Given the description of an element on the screen output the (x, y) to click on. 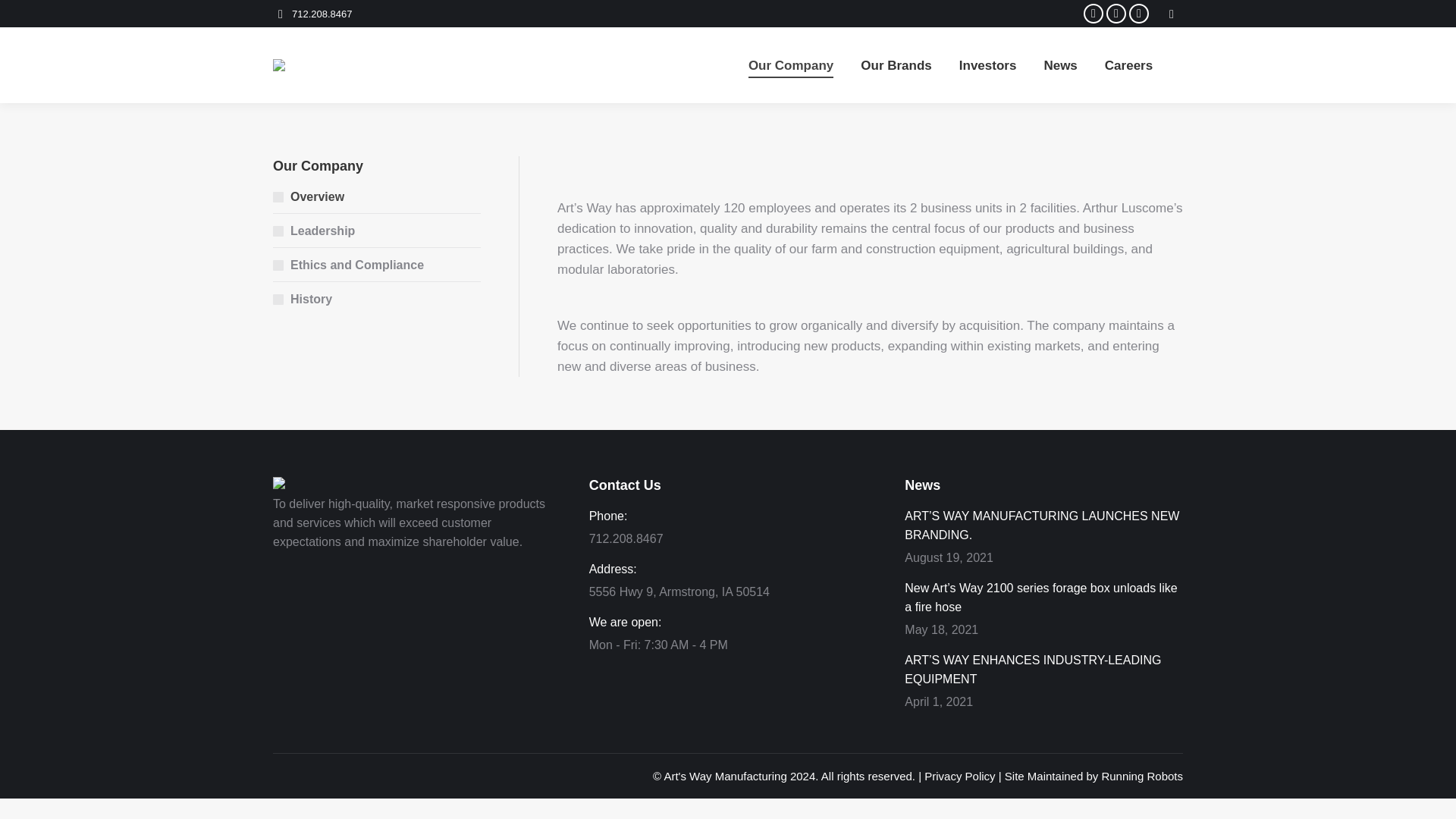
Ethics and Compliance (348, 264)
Overview (308, 196)
Leadership (314, 230)
Our Brands (895, 64)
X page opens in new window (1115, 13)
News (1060, 64)
Investors (988, 64)
Our Company (790, 64)
Linkedin page opens in new window (1138, 13)
X page opens in new window (1115, 13)
Facebook page opens in new window (1093, 13)
Careers (1129, 64)
Linkedin page opens in new window (1138, 13)
Facebook page opens in new window (1093, 13)
Go! (24, 16)
